Given the description of an element on the screen output the (x, y) to click on. 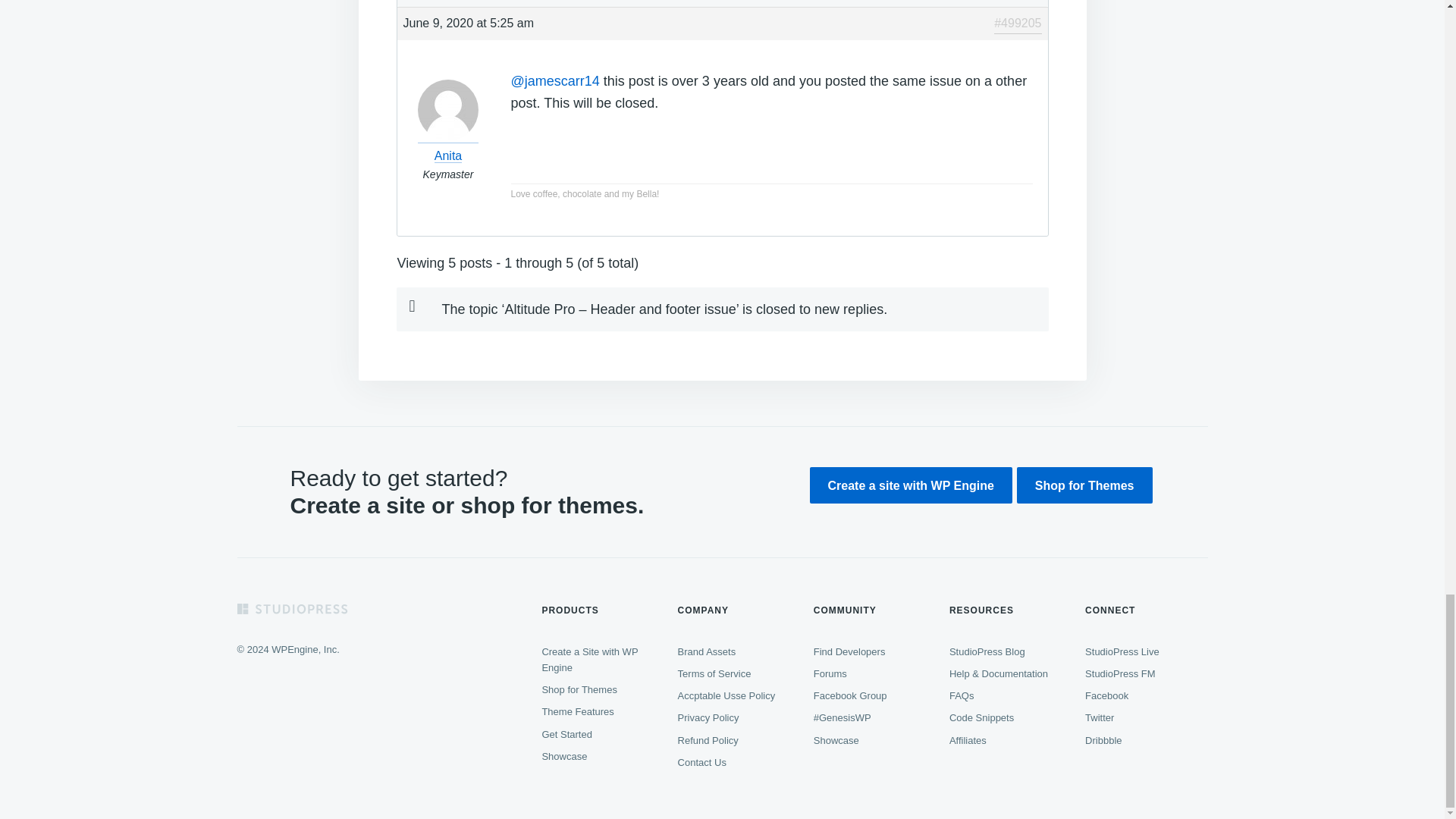
View Anita's profile (448, 145)
